Given the description of an element on the screen output the (x, y) to click on. 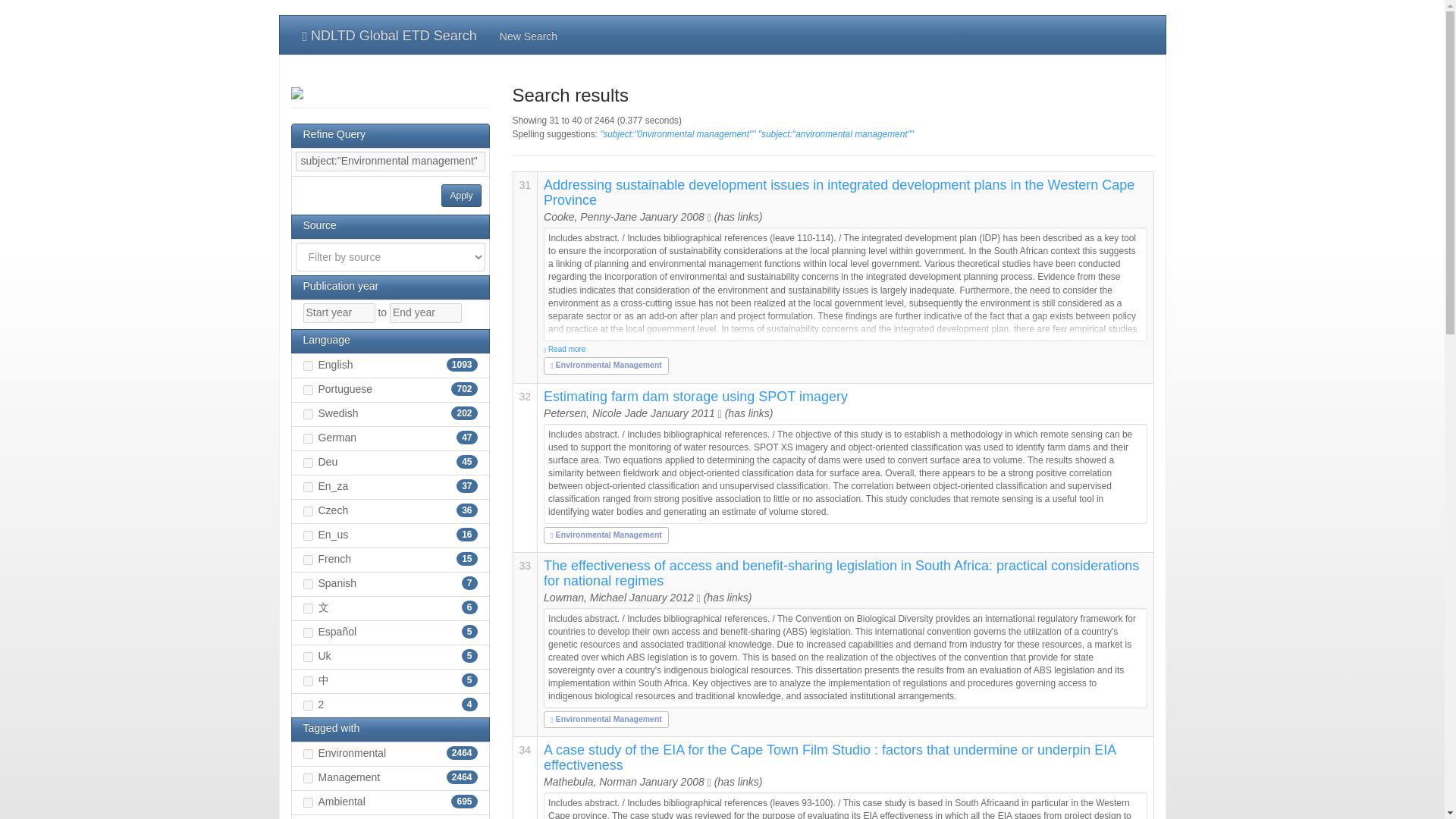
subject:"Environmental management" (389, 161)
"subject:"anvironmental management"" (836, 133)
"subject:"0nvironmental management"" (677, 133)
Apply (460, 195)
environmental (307, 754)
spanish (307, 583)
NDLTD Global ETD Search (389, 34)
uk (307, 656)
Environmental Management (606, 533)
